Given the description of an element on the screen output the (x, y) to click on. 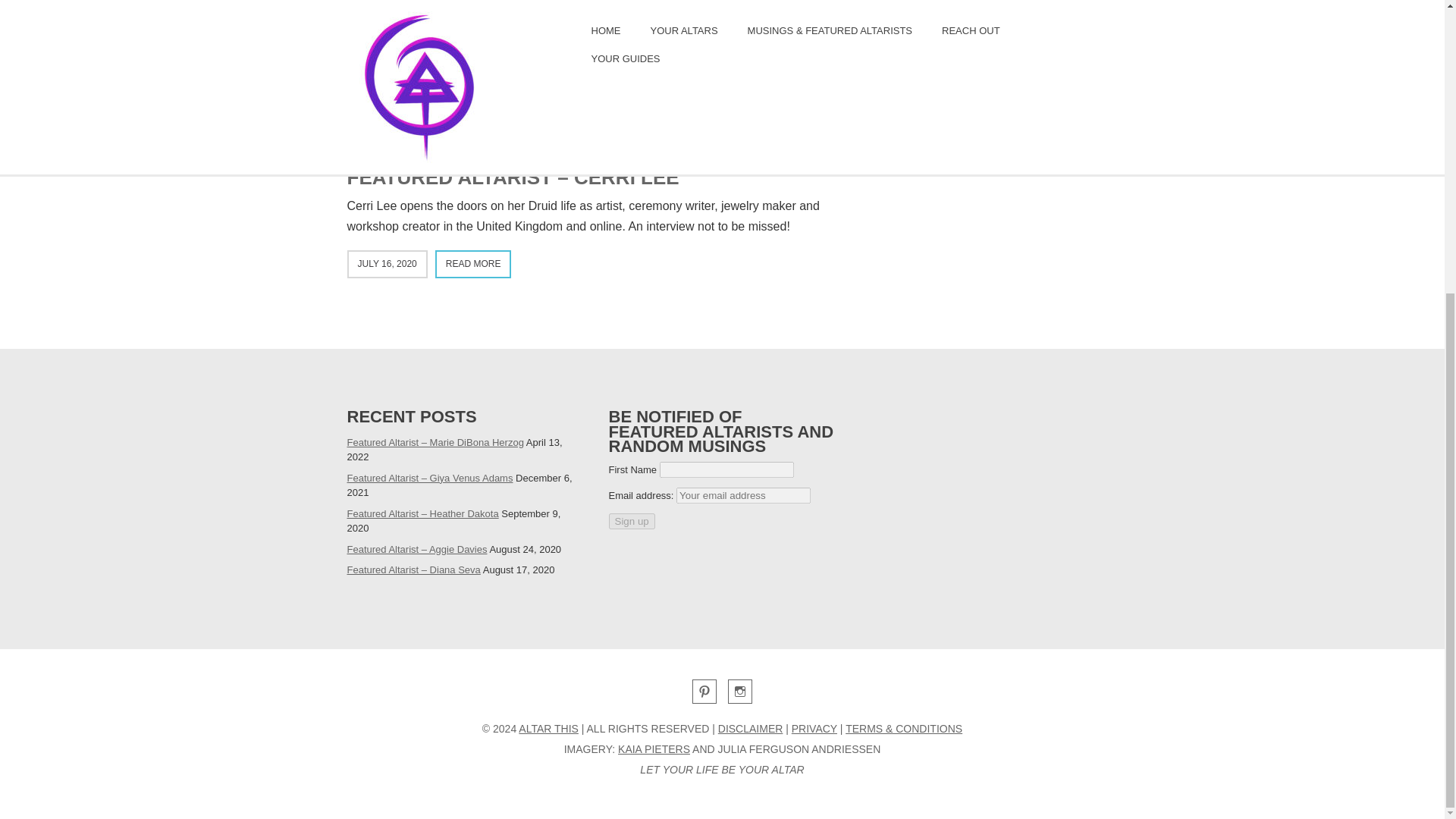
Sign up (630, 521)
READ MORE (473, 264)
